Given the description of an element on the screen output the (x, y) to click on. 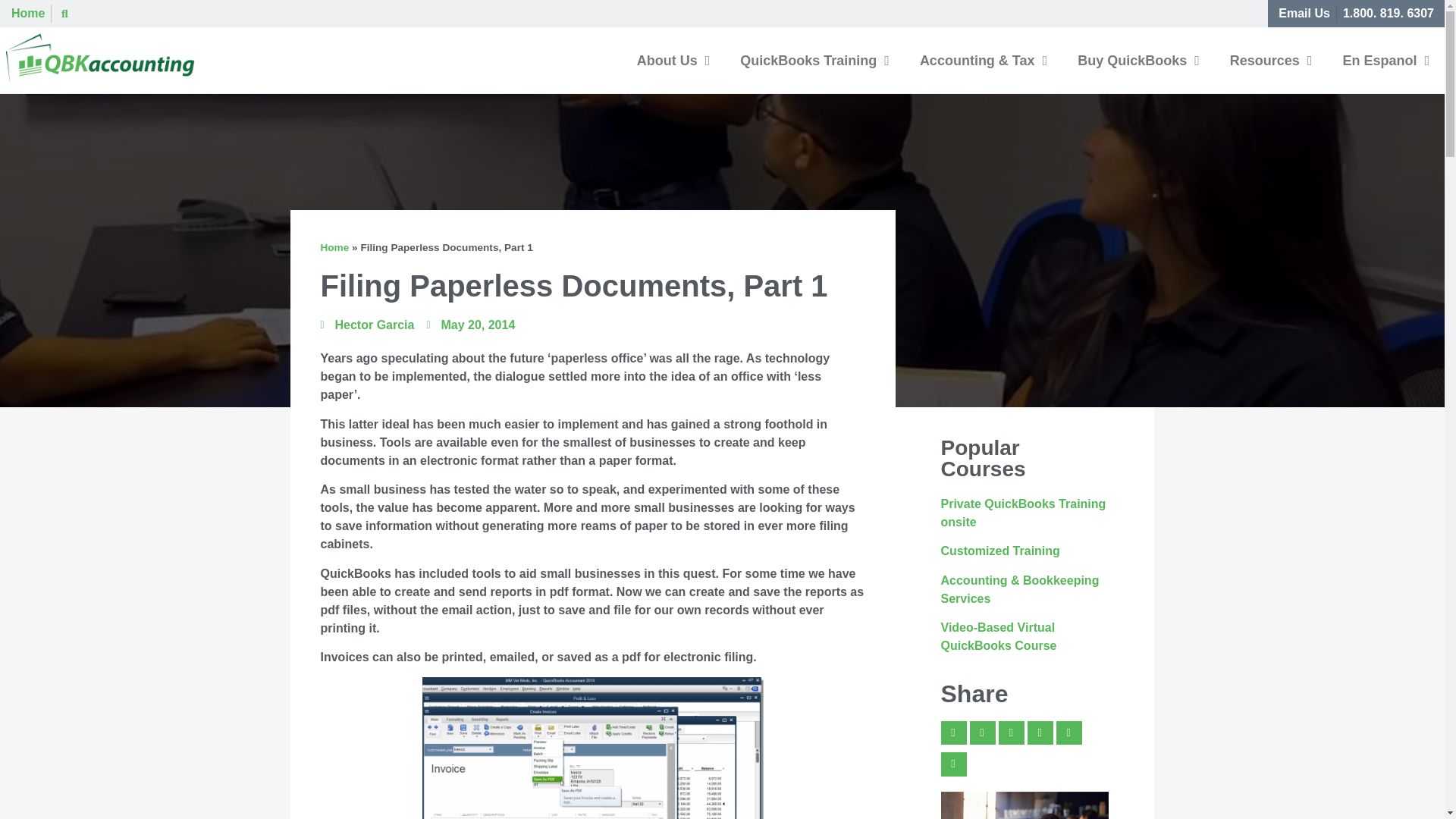
Chatbot (1383, 758)
Home (28, 13)
About Us (673, 60)
1.800. 819. 6307 (1388, 13)
Email Us (1304, 13)
Resources (1270, 60)
Buy QuickBooks (1138, 60)
QuickBooks Training (814, 60)
